Given the description of an element on the screen output the (x, y) to click on. 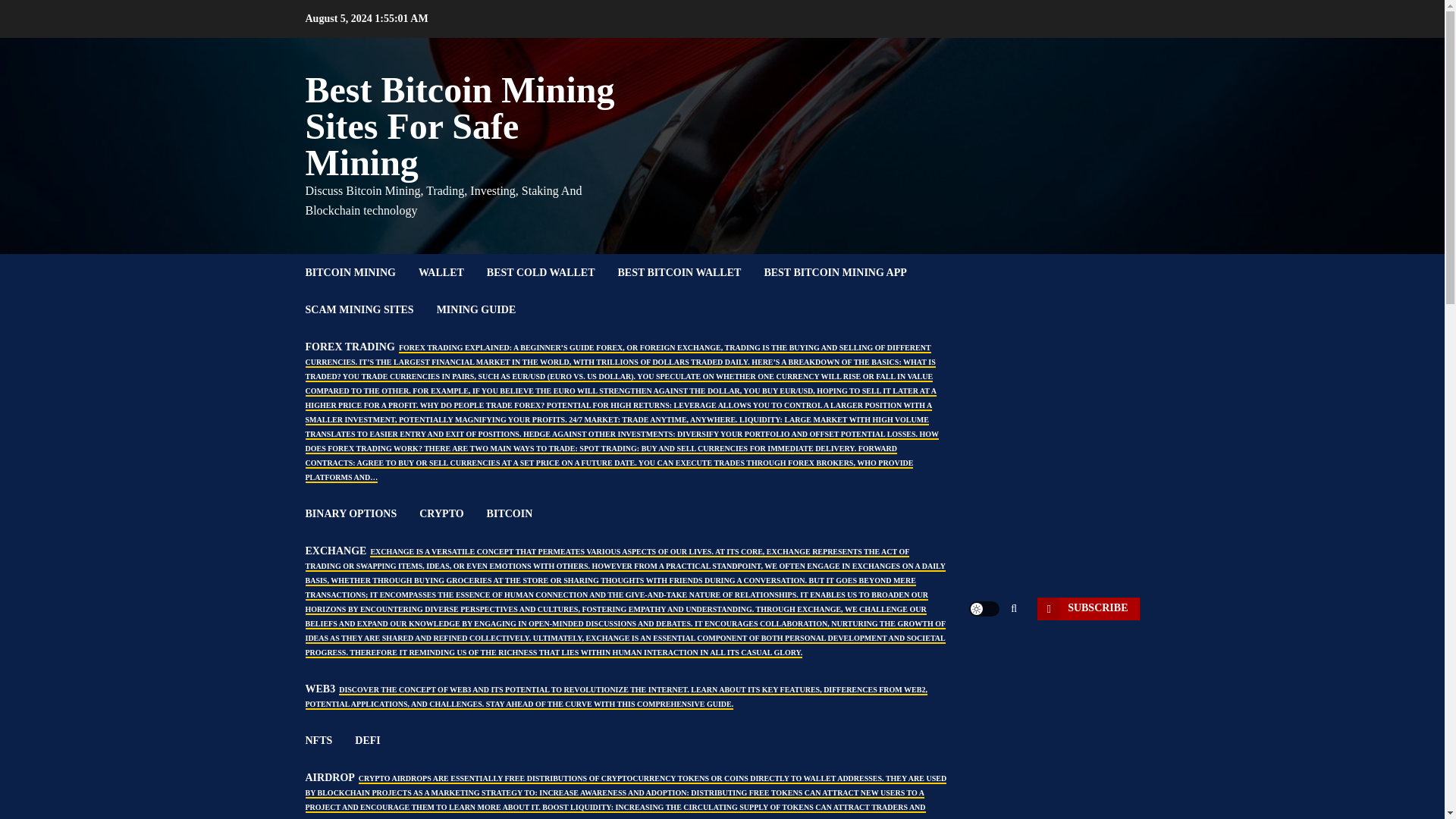
WALLET (452, 272)
NFTS (329, 740)
BITCOIN MINING (360, 272)
Search (990, 654)
BEST BITCOIN MINING APP (845, 272)
SCAM MINING SITES (369, 309)
MINING GUIDE (487, 309)
BITCOIN (521, 513)
BINARY OPTIONS (361, 513)
CRYPTO (452, 513)
BEST BITCOIN WALLET (689, 272)
Best Bitcoin Mining Sites For Safe Mining (459, 125)
SUBSCRIBE (1087, 608)
BEST COLD WALLET (551, 272)
